Given the description of an element on the screen output the (x, y) to click on. 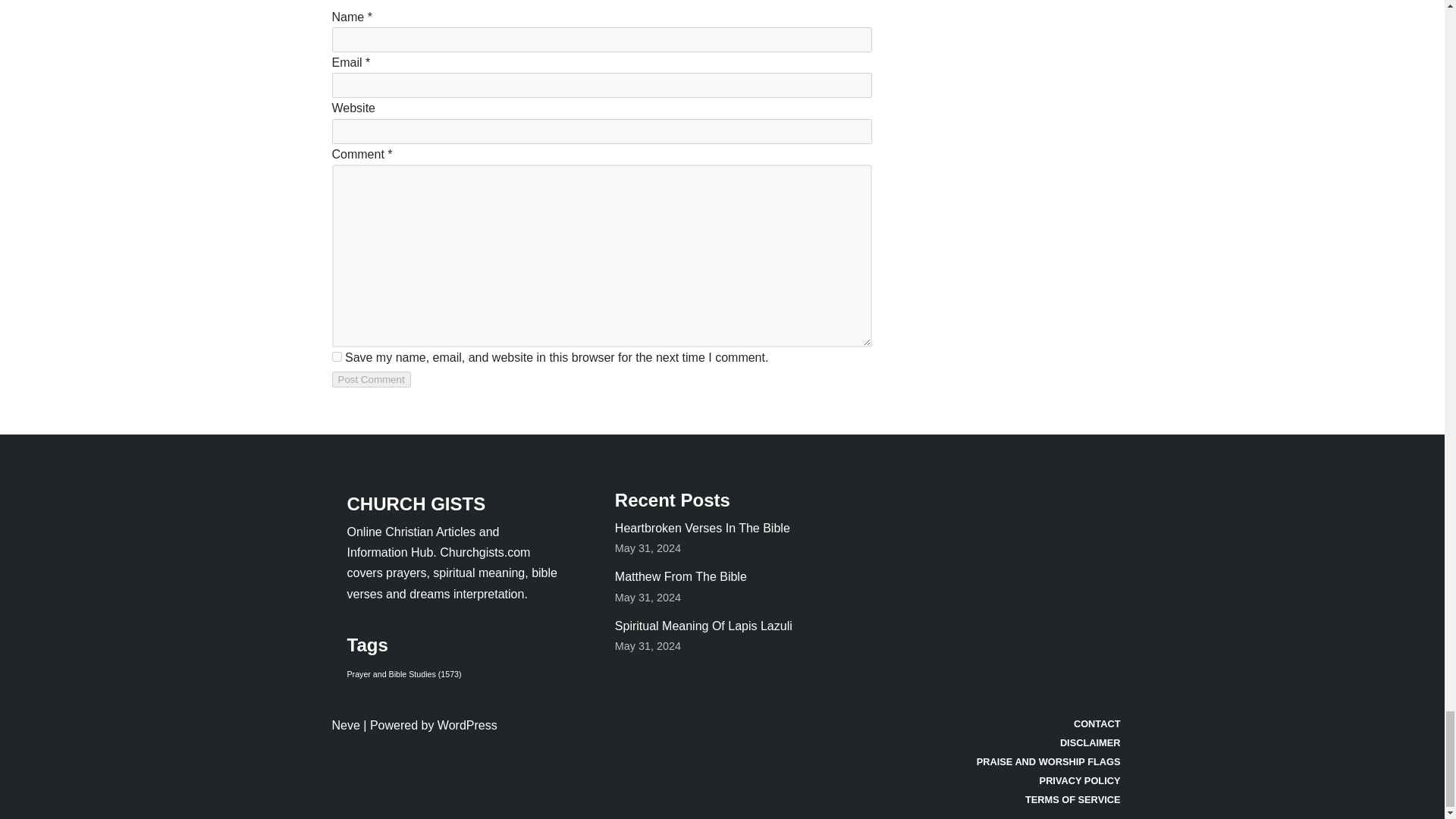
Heartbroken Verses In The Bible (702, 527)
DISCLAIMER (1048, 742)
Post Comment (370, 379)
WordPress (467, 725)
yes (336, 356)
CONTACT (1048, 723)
Matthew From The Bible (680, 576)
Neve (345, 725)
Spiritual Meaning Of Lapis Lazuli (703, 625)
Post Comment (370, 379)
